Given the description of an element on the screen output the (x, y) to click on. 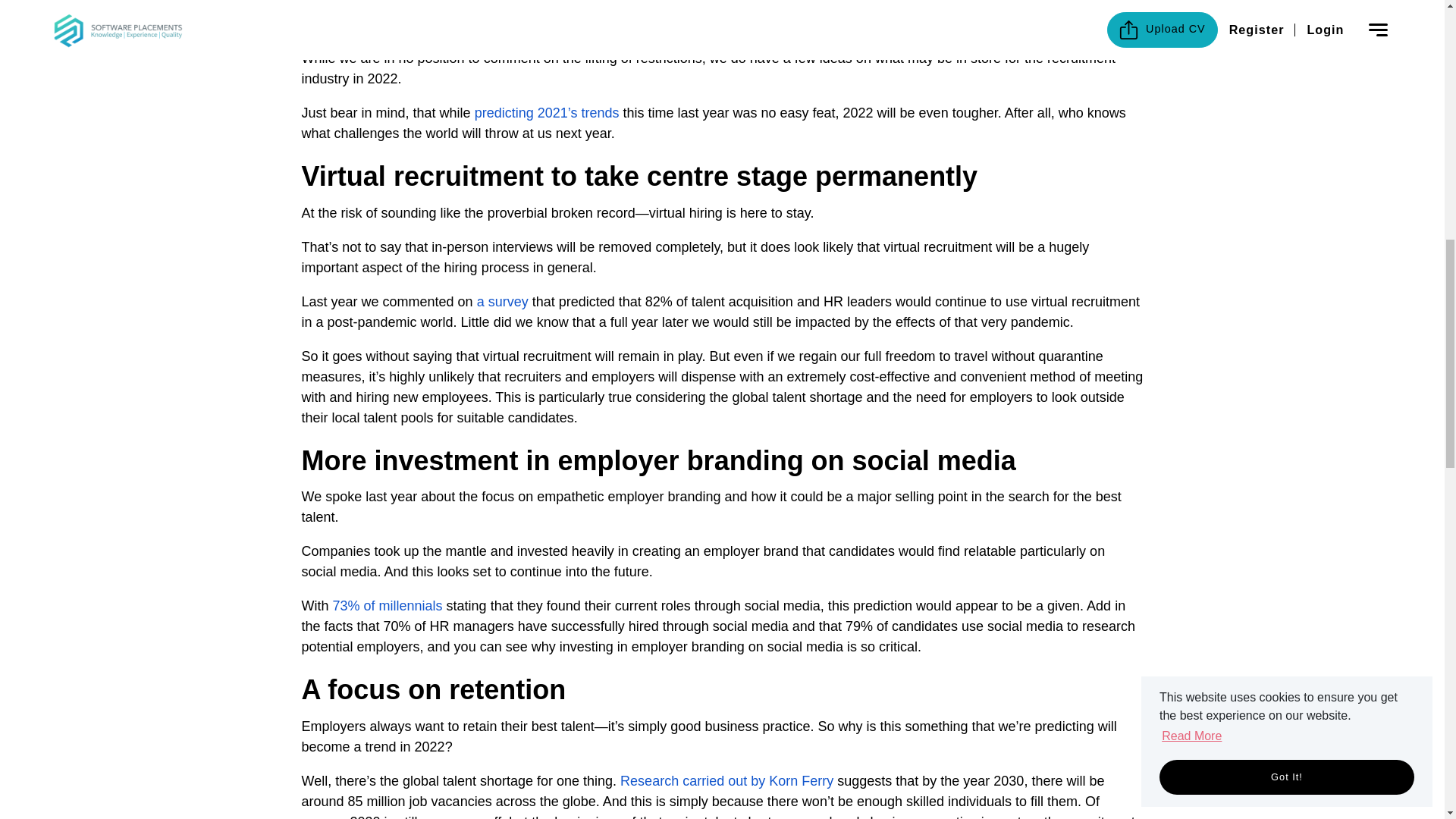
a survey (502, 301)
Research carried out by Korn Ferry (726, 780)
